Given the description of an element on the screen output the (x, y) to click on. 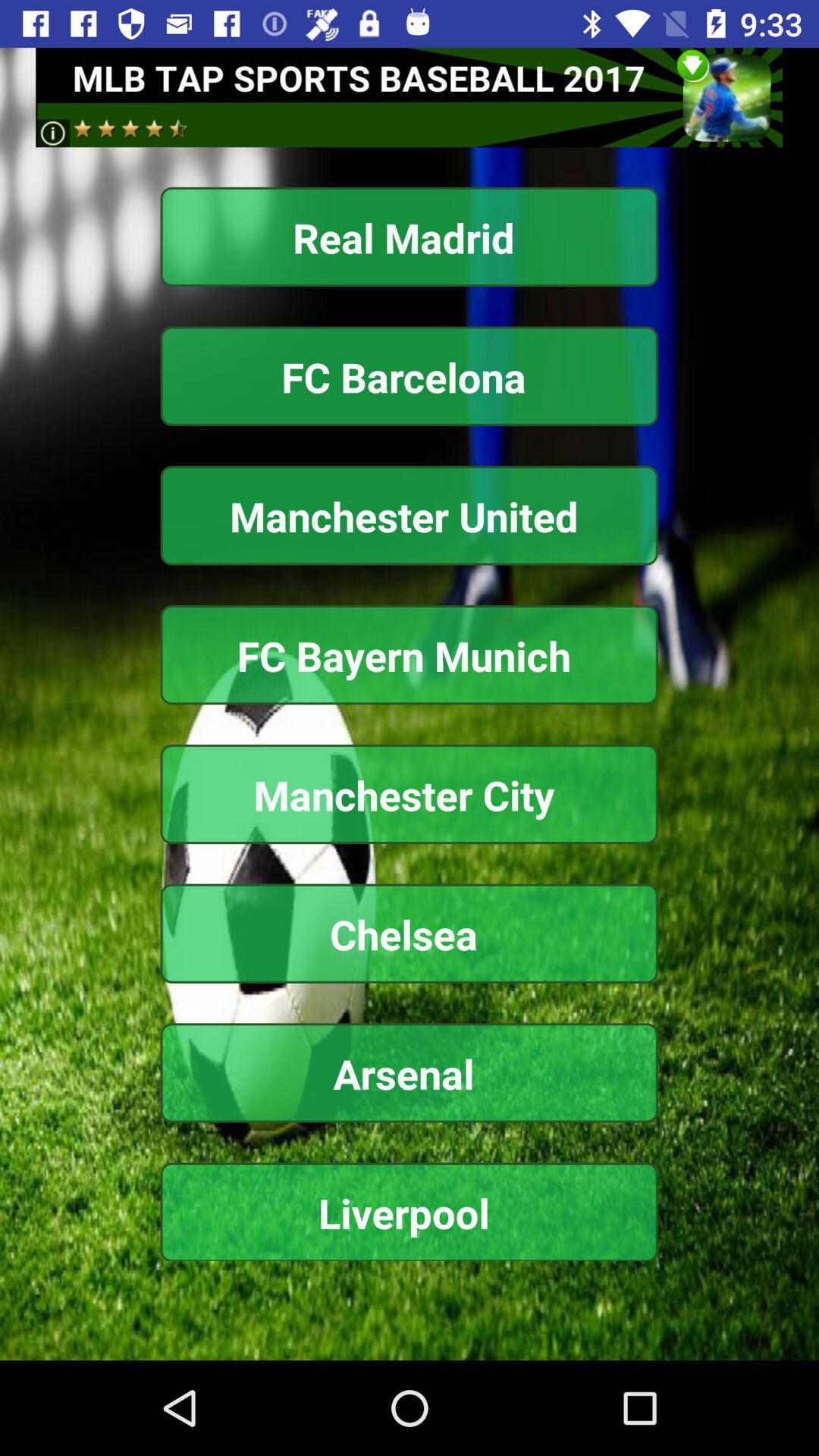
click advertisement (408, 97)
